Given the description of an element on the screen output the (x, y) to click on. 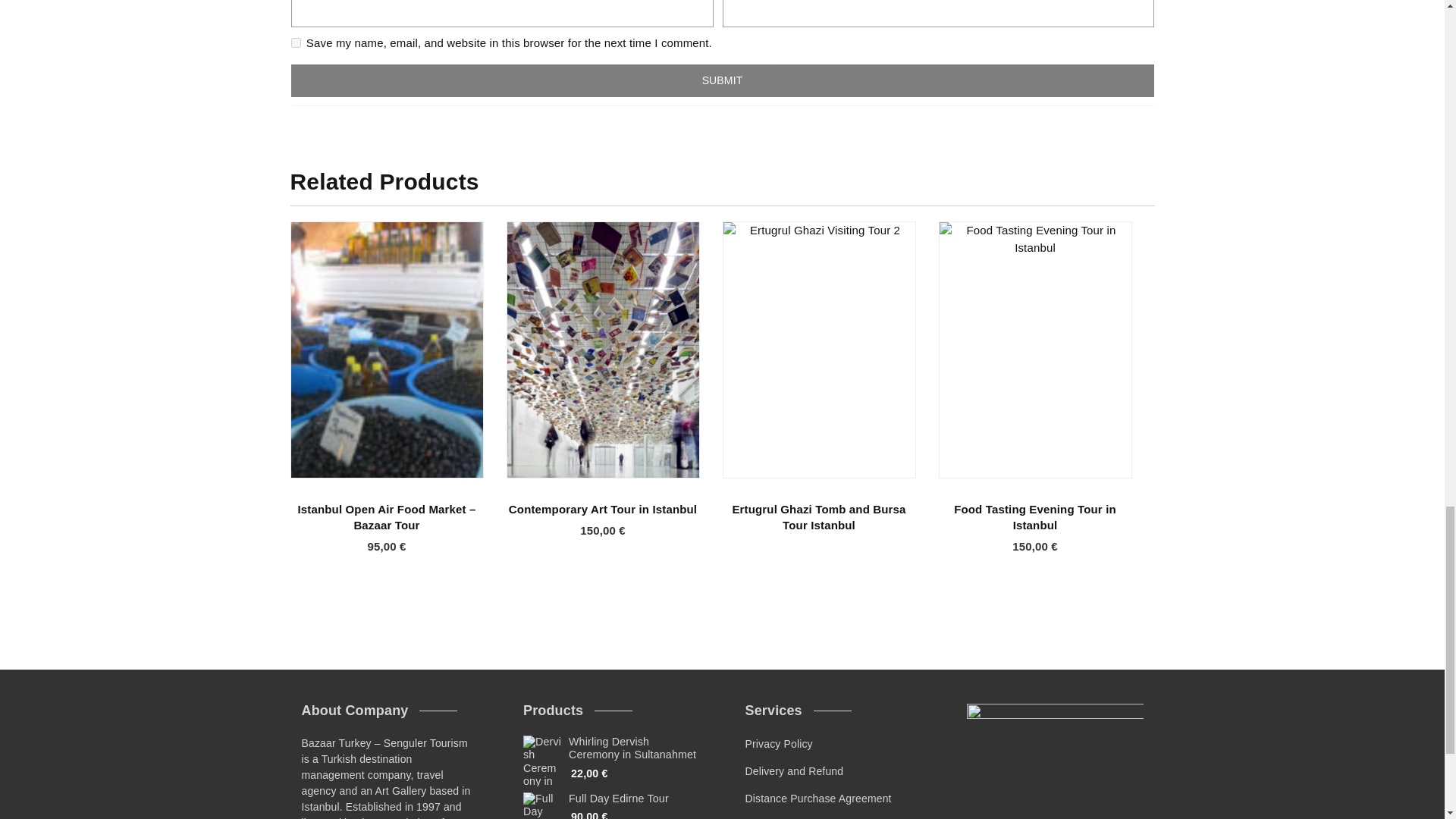
Submit (722, 80)
yes (296, 42)
